Given the description of an element on the screen output the (x, y) to click on. 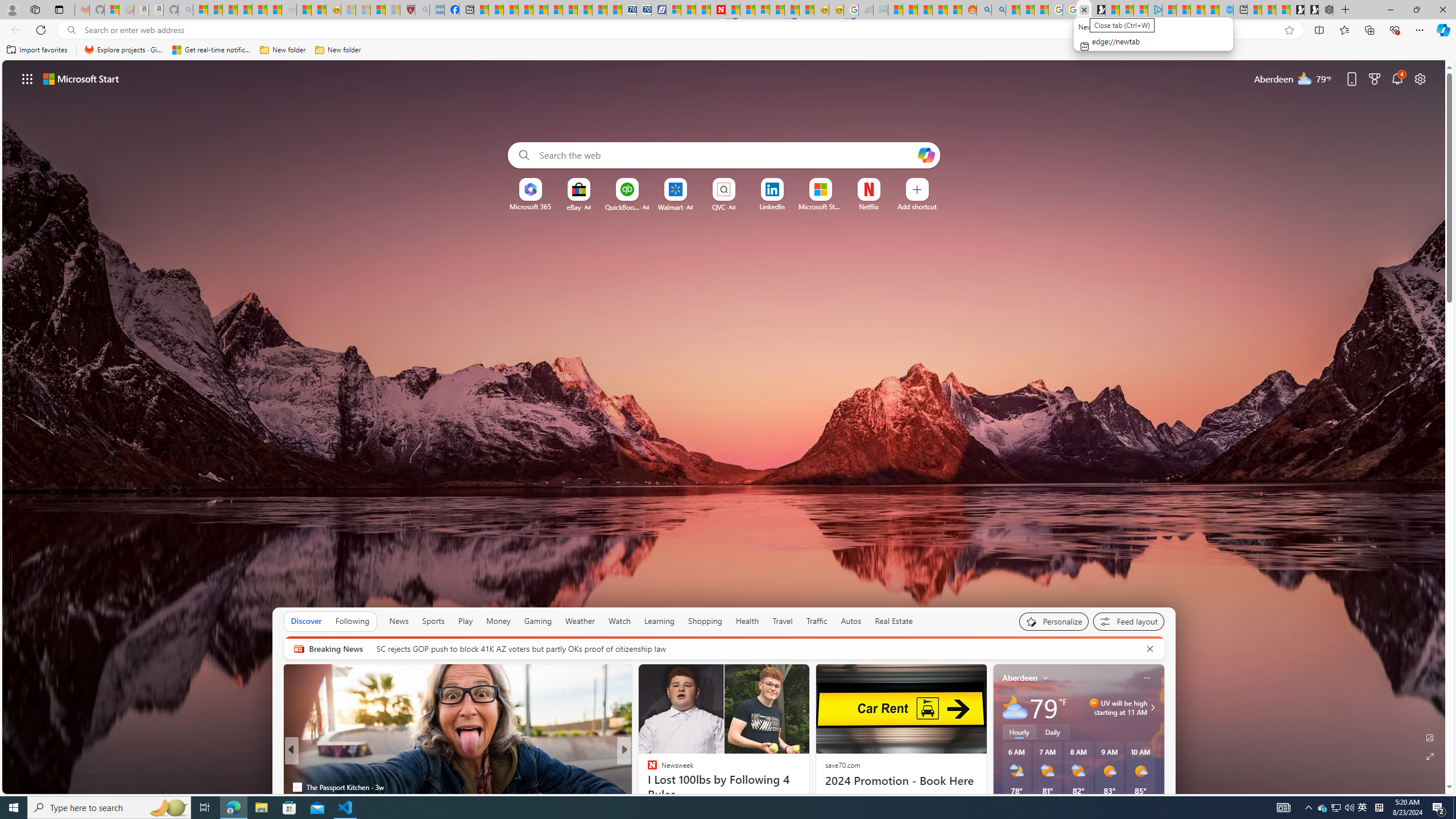
Learning (658, 621)
To get missing image descriptions, open the context menu. (529, 189)
Navy Quest (865, 9)
Edit Background (1430, 737)
